Given the description of an element on the screen output the (x, y) to click on. 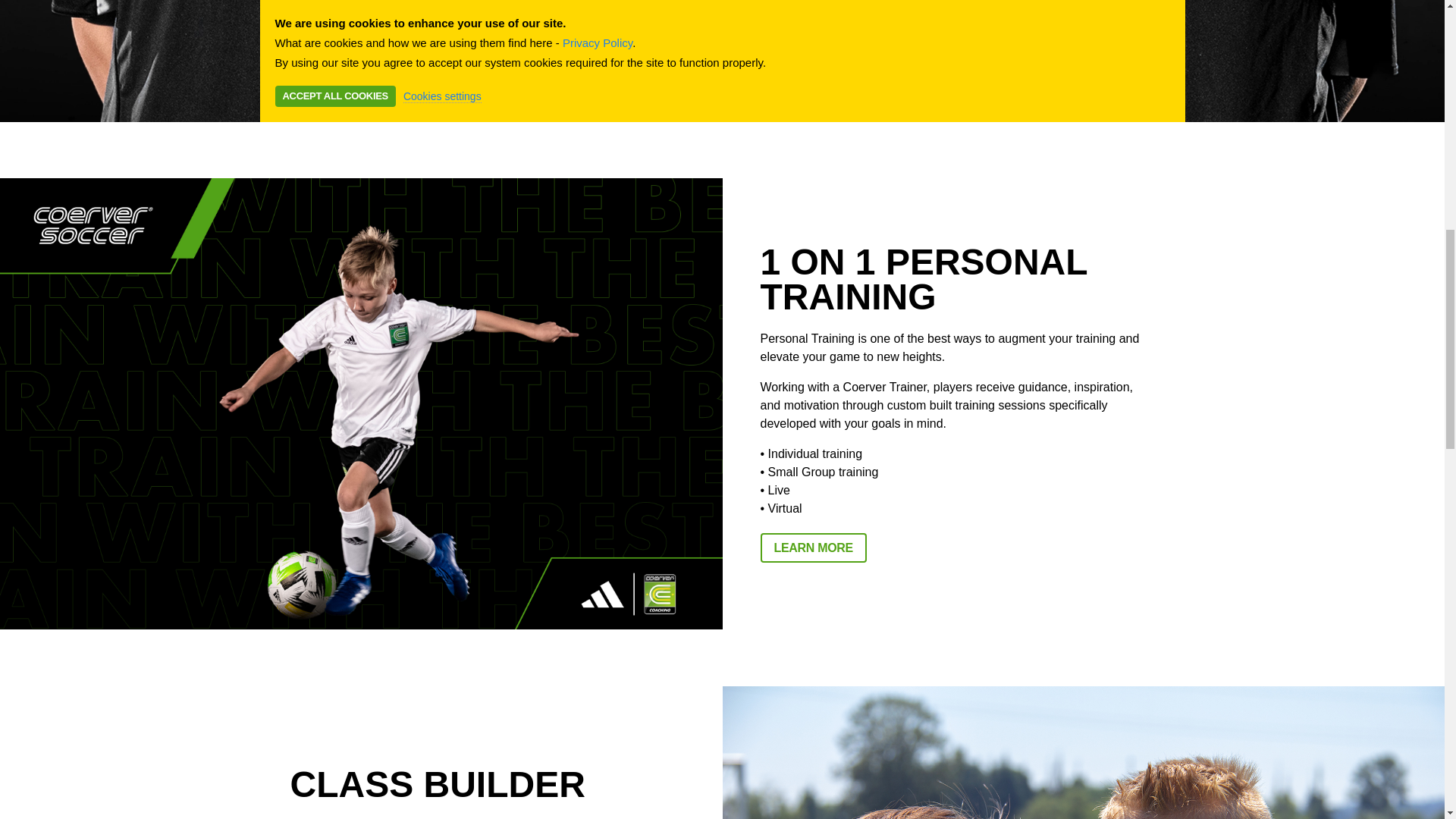
LEARN MORE (813, 547)
